Given the description of an element on the screen output the (x, y) to click on. 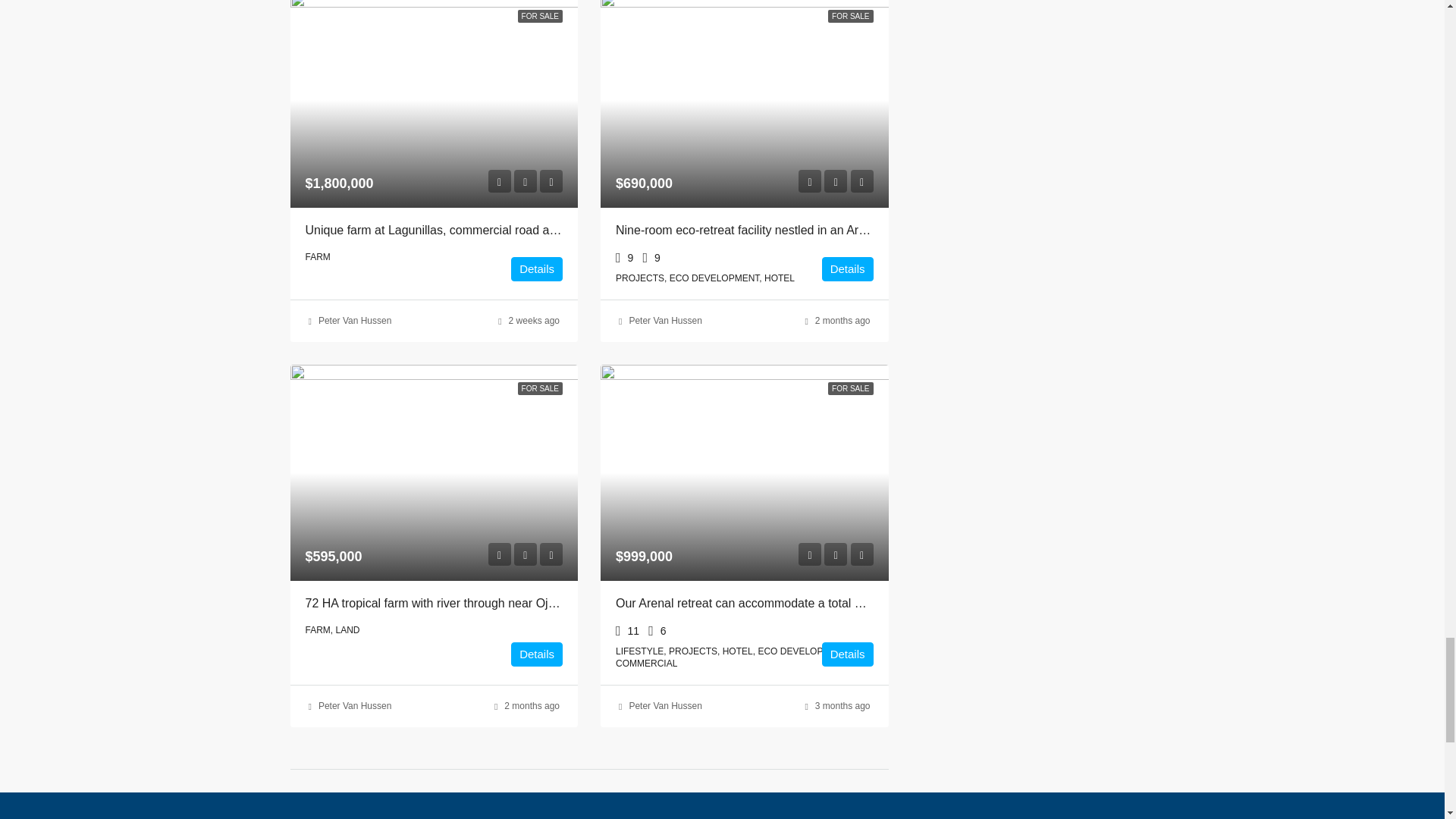
Preview (809, 180)
Favourite (525, 180)
Favourite (835, 180)
Add to Compare (551, 180)
Preview (499, 180)
